Given the description of an element on the screen output the (x, y) to click on. 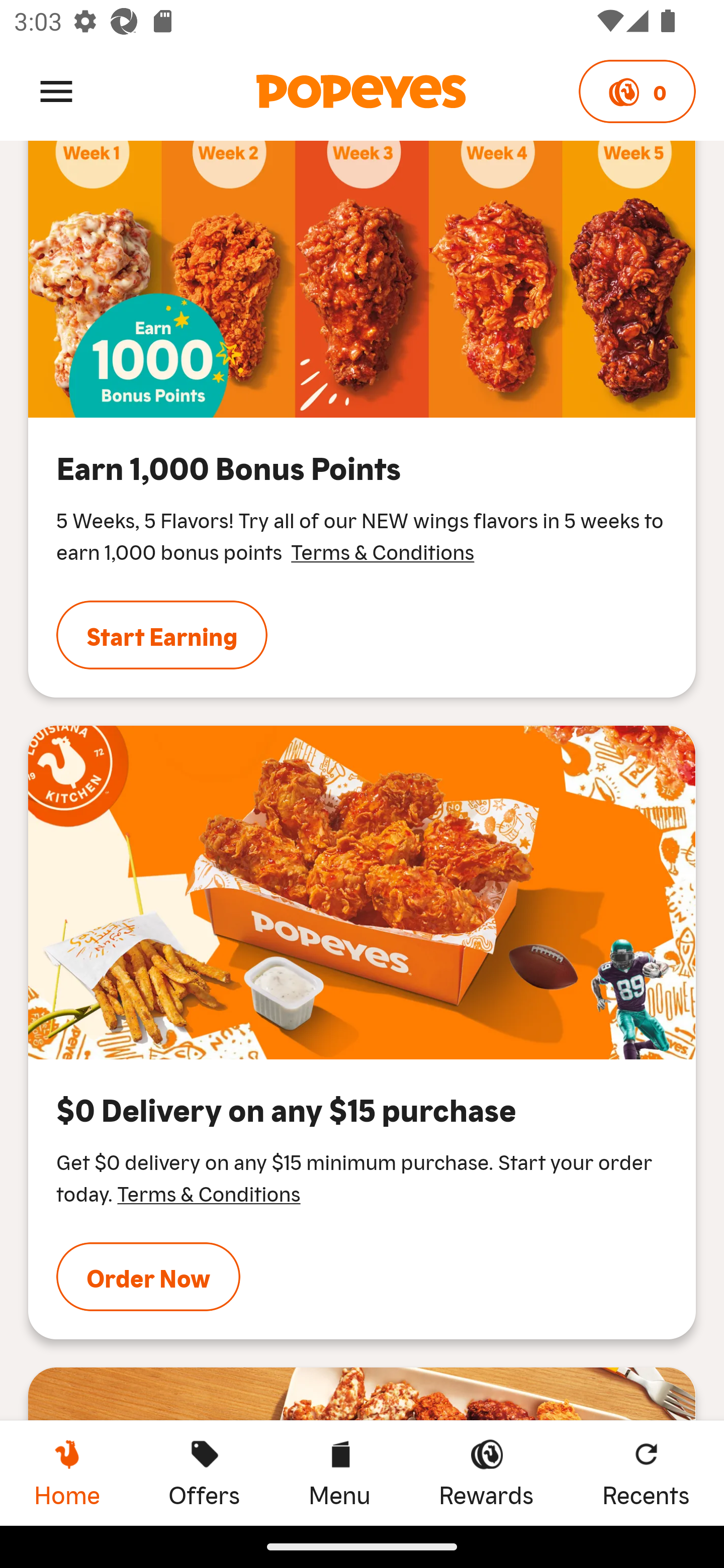
Menu  (56, 90)
0 Points 0 (636, 91)
Earn 1,000 Bonus Points (361, 279)
Start Earning (161, 634)
Popeyes Wings (361, 892)
Order Now (148, 1275)
Home, current page Home Home, current page (66, 1472)
Offers Offers Offers (203, 1472)
Menu Menu Menu (339, 1472)
Rewards Rewards Rewards (486, 1472)
Recents Recents Recents (646, 1472)
